Given the description of an element on the screen output the (x, y) to click on. 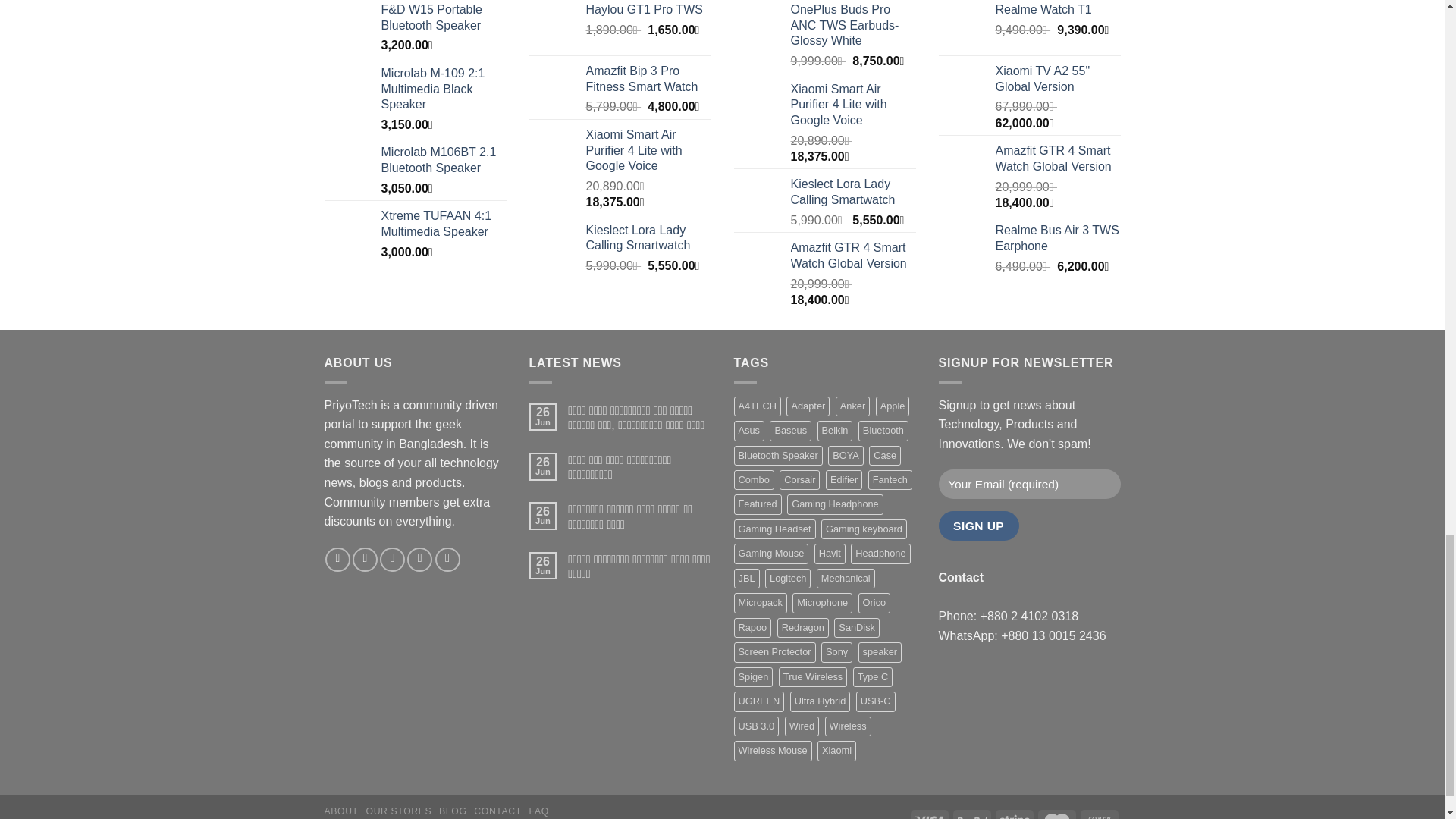
Sign Up (979, 525)
